Given the description of an element on the screen output the (x, y) to click on. 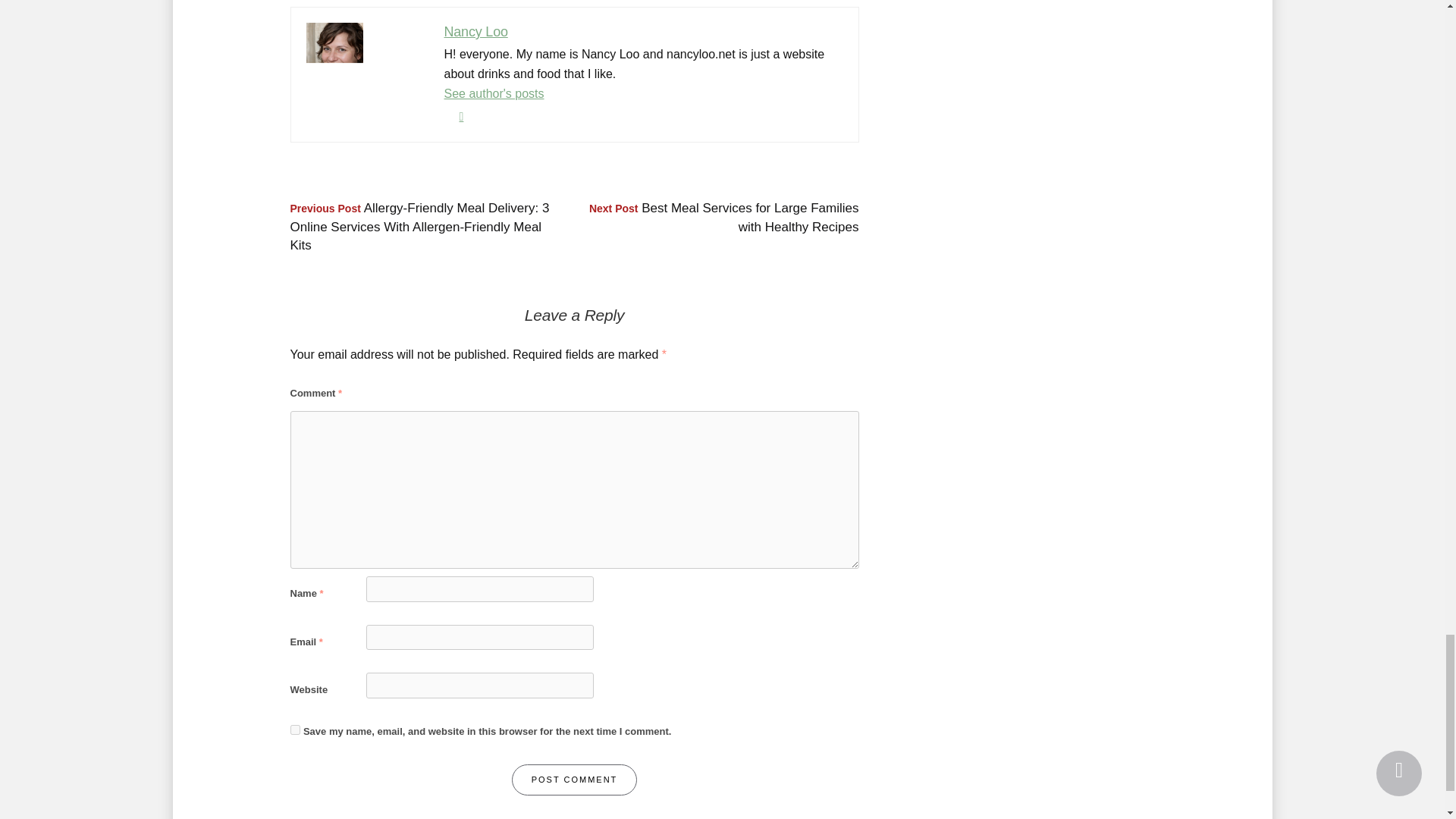
Nancy Loo (476, 31)
Post Comment (574, 779)
Post Comment (574, 779)
yes (294, 729)
See author's posts (494, 92)
